Given the description of an element on the screen output the (x, y) to click on. 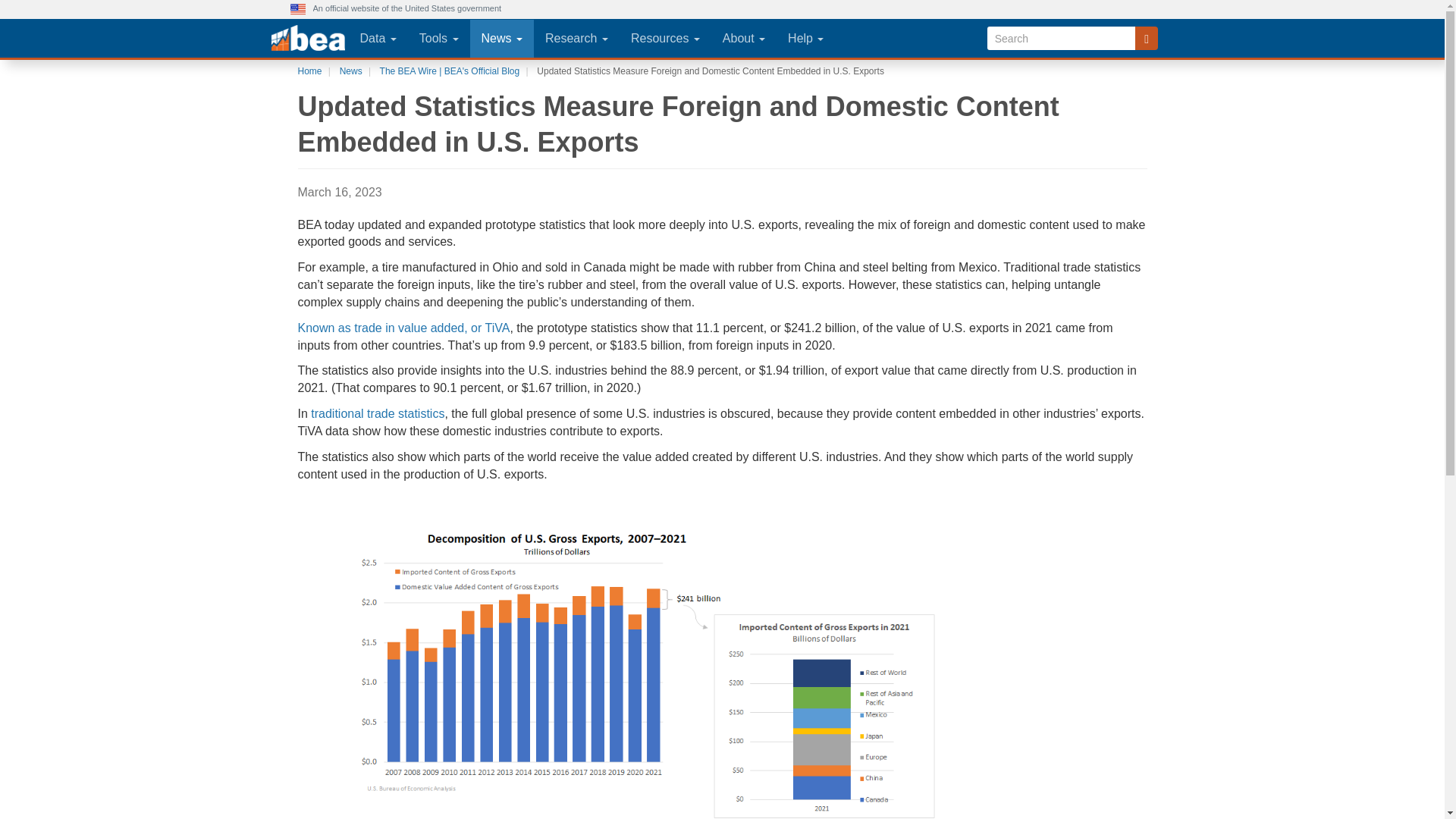
Data (378, 38)
About (743, 38)
Tools (438, 38)
News (502, 38)
Research (577, 38)
Resources (665, 38)
